Given the description of an element on the screen output the (x, y) to click on. 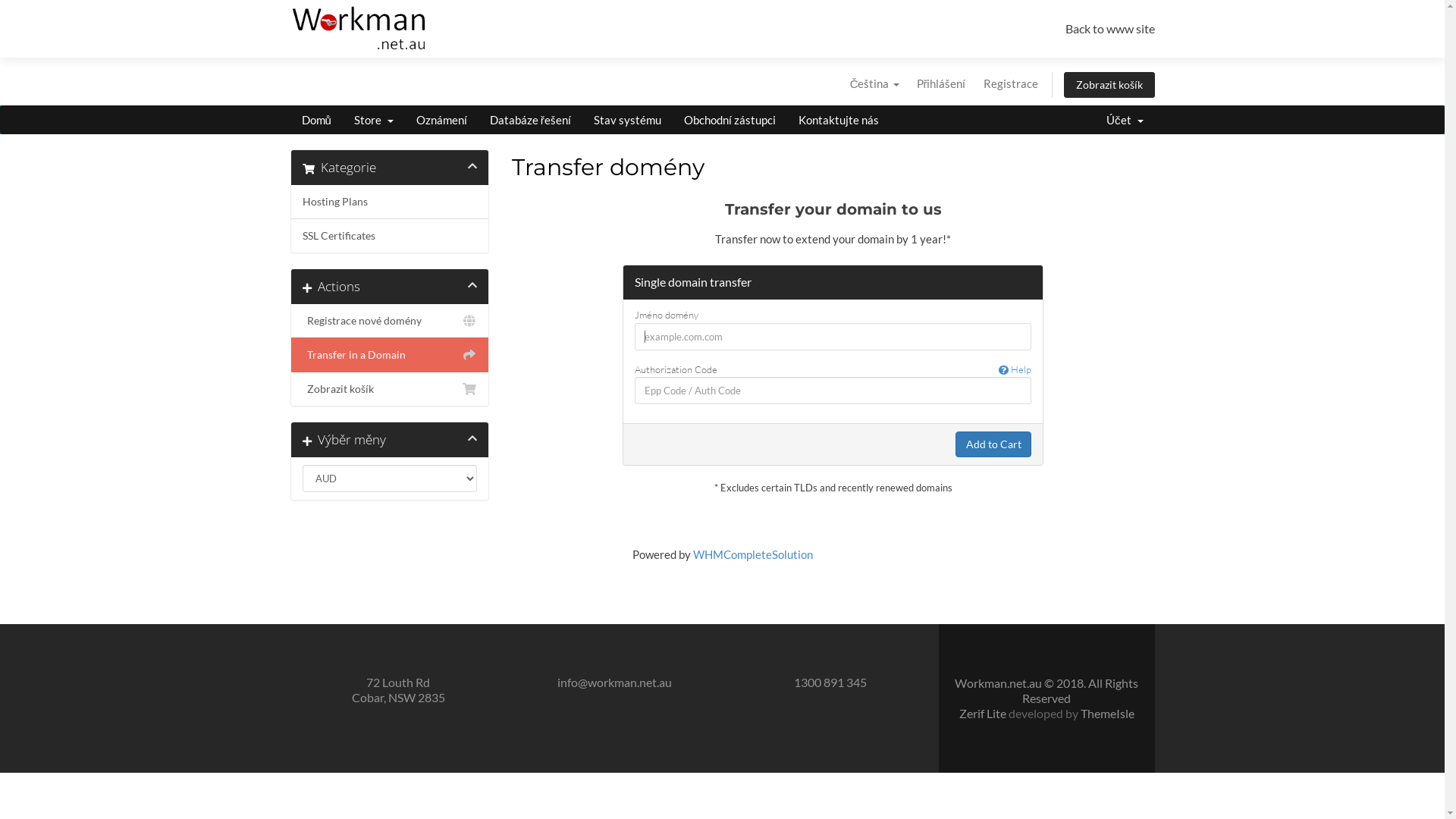
Please enter your domain Element type: hover (832, 336)
Registrace Element type: text (1009, 83)
SSL Certificates Element type: text (390, 235)
Skip to content Element type: text (1103, 9)
info@workman.net.au Element type: text (613, 681)
  Transfer in a Domain Element type: text (390, 354)
Required Element type: hover (832, 390)
ThemeIsle Element type: text (1106, 713)
1300 891 345 Element type: text (829, 681)
Help Element type: text (1014, 369)
Add to Cart Element type: text (993, 444)
WHMCompleteSolution Element type: text (752, 554)
Back to www site Element type: text (1109, 28)
Zerif Lite Element type: text (982, 713)
Hosting Plans Element type: text (390, 202)
Store   Element type: text (373, 119)
